Given the description of an element on the screen output the (x, y) to click on. 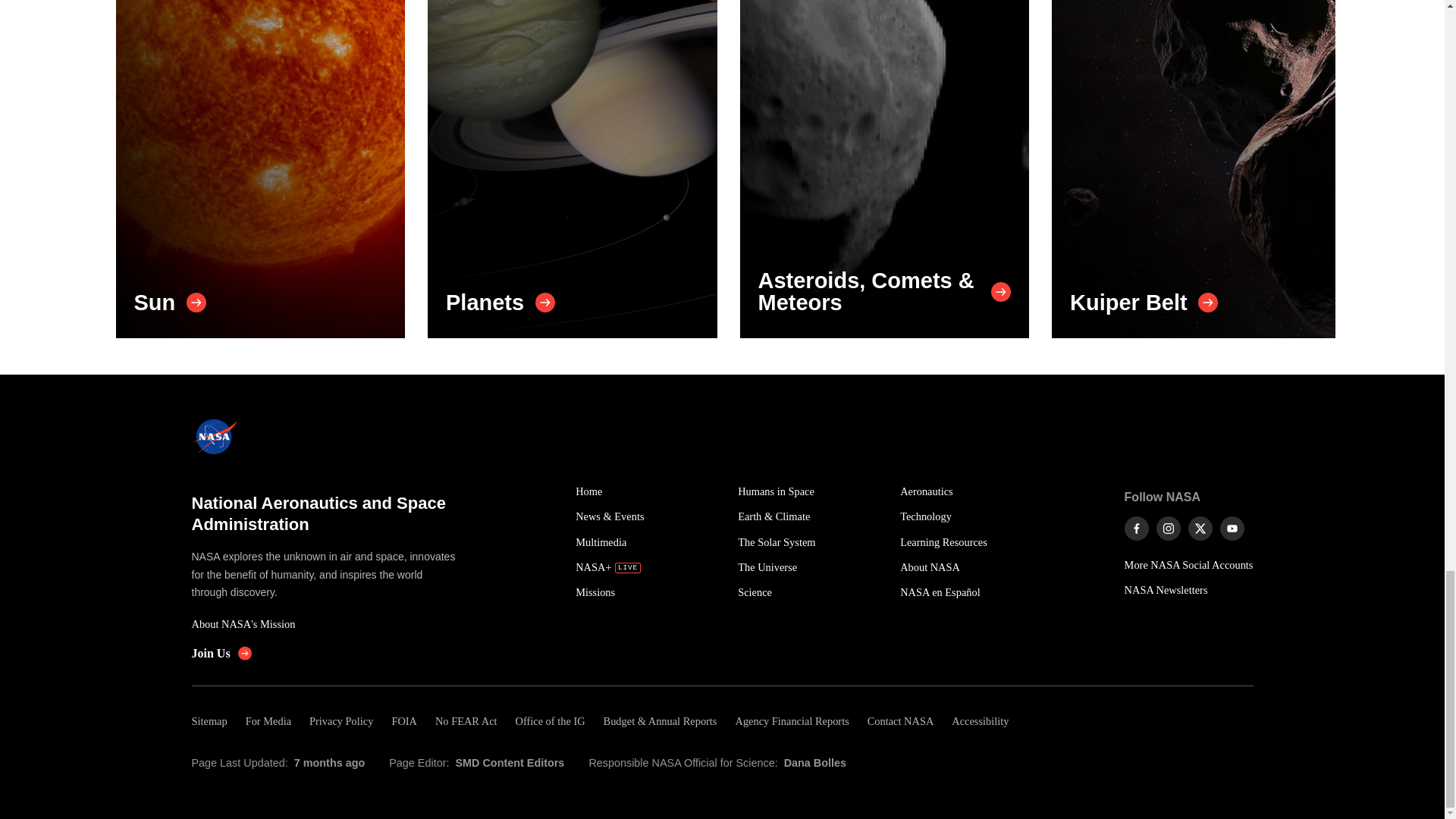
Contact NASA (901, 721)
Sitemap (212, 721)
Privacy Policy (340, 721)
No FEAR Act (466, 721)
Agency Financial Reports (791, 721)
FOIA (403, 721)
Accessibility (979, 721)
Office of the IG (550, 721)
For Media (267, 721)
